Given the description of an element on the screen output the (x, y) to click on. 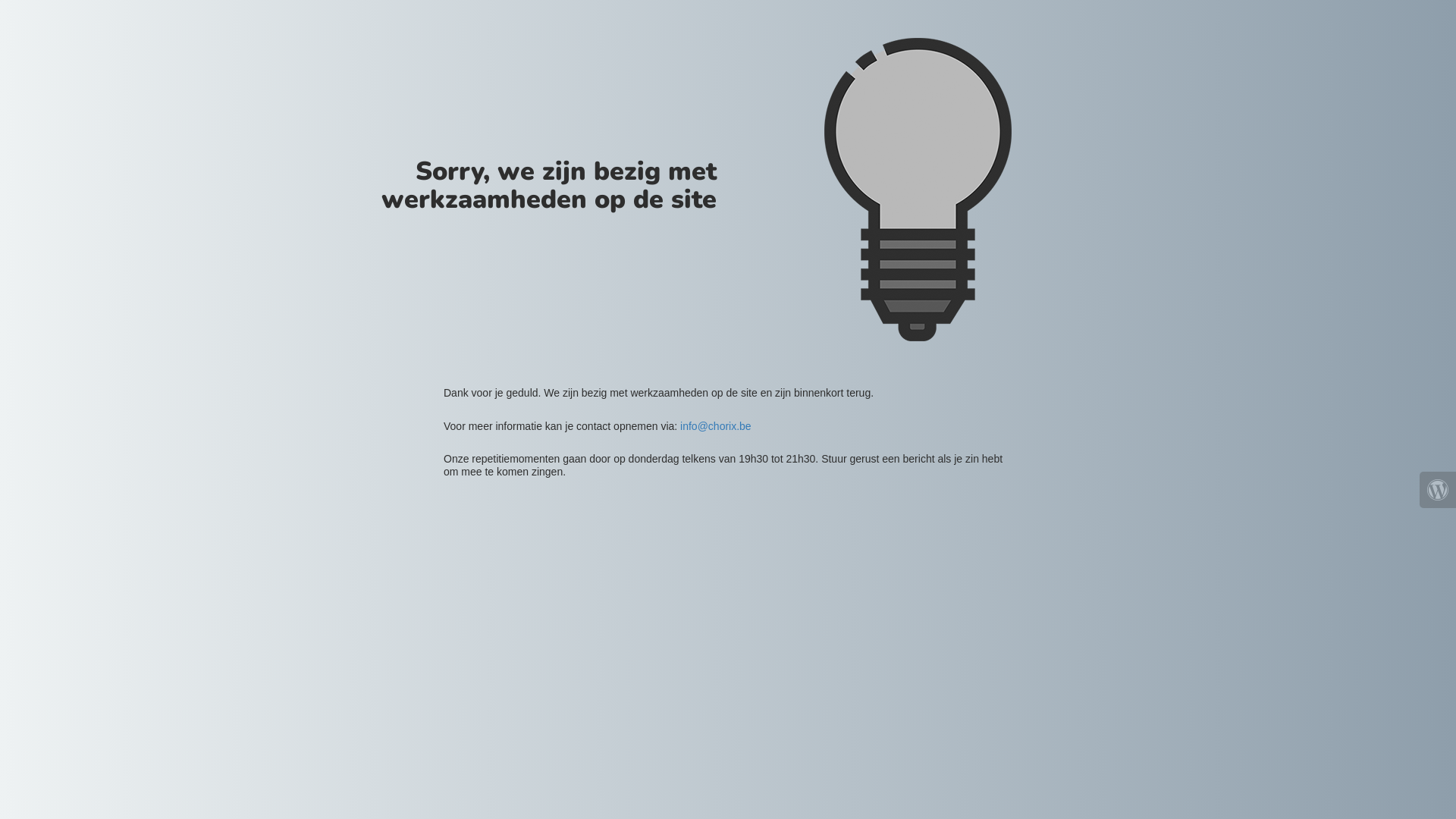
info@chorix.be Element type: text (715, 426)
Switching on the site soon ... Element type: hover (916, 189)
